Given the description of an element on the screen output the (x, y) to click on. 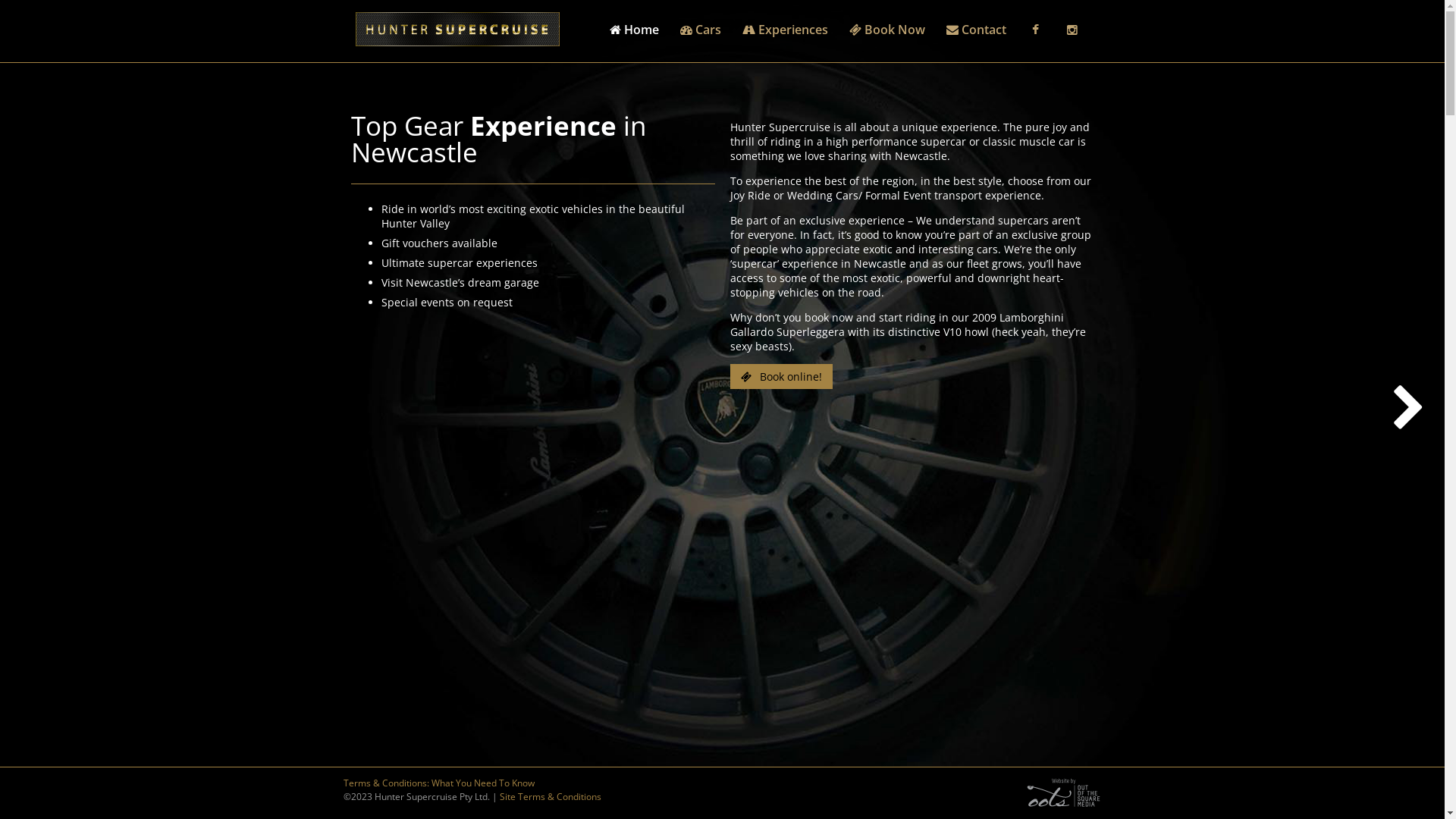
Hunter Supercruise. Drive a Lamborghini today! Element type: text (456, 29)
Terms & Conditions: What You Need To Know Element type: text (437, 782)
Site Terms & Conditions Element type: text (549, 796)
Home Element type: text (634, 29)
Book Now Element type: text (887, 29)
Experiences Element type: text (785, 29)
Cars Element type: text (700, 29)
Contact Element type: text (976, 29)
Book online! Element type: text (780, 376)
